Given the description of an element on the screen output the (x, y) to click on. 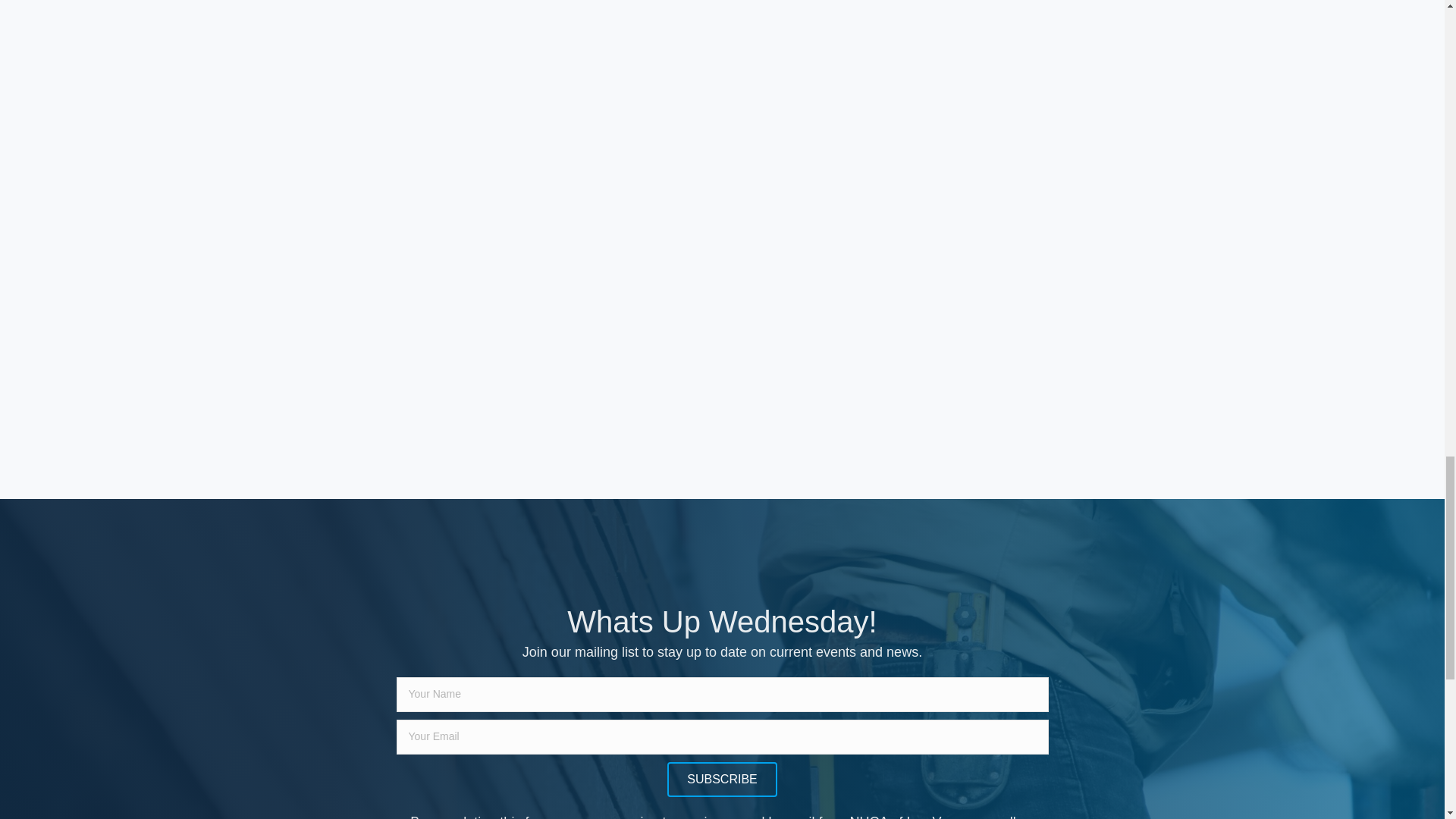
SUBSCRIBE (721, 779)
